Given the description of an element on the screen output the (x, y) to click on. 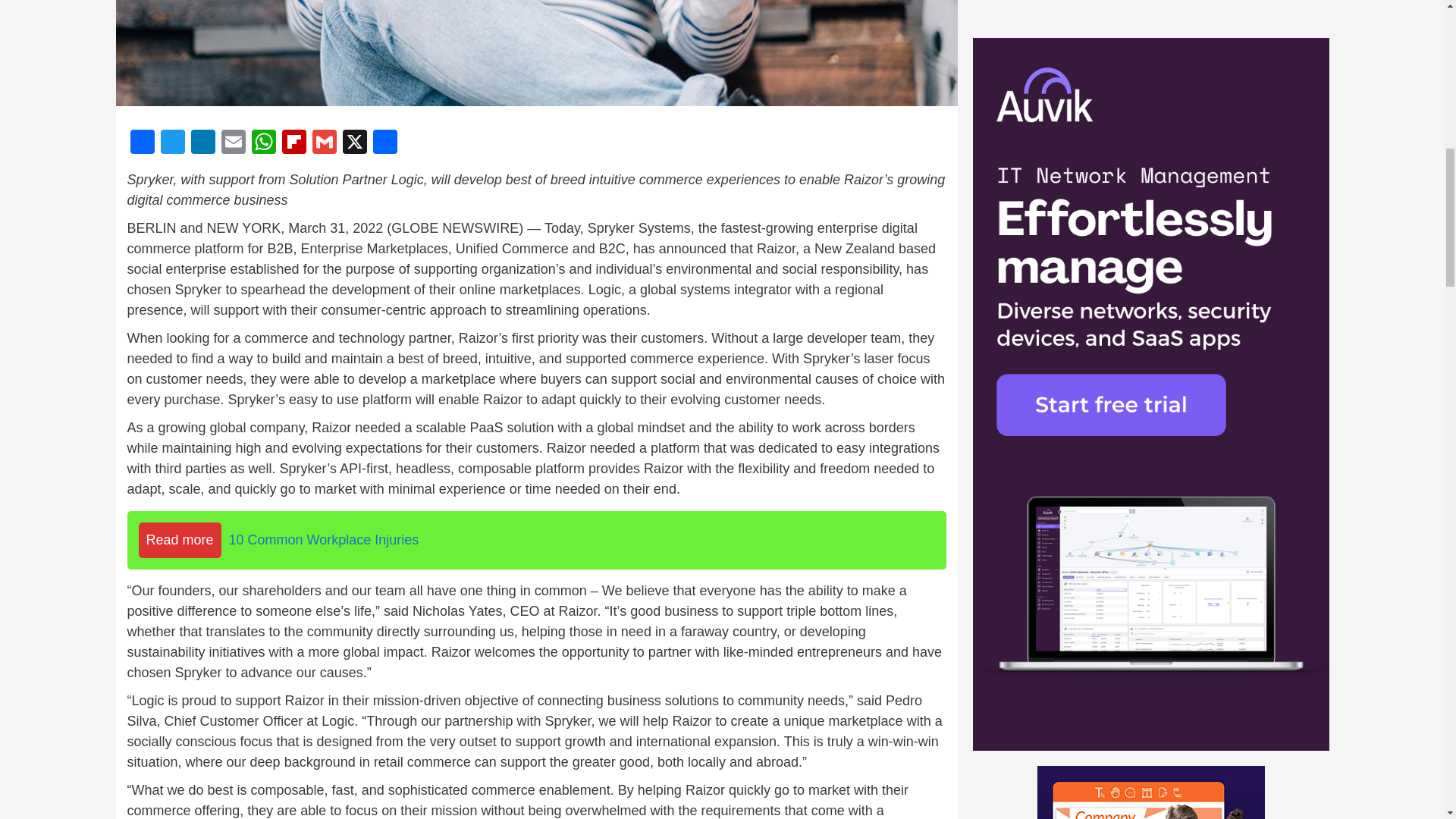
Read more10 Common Workplace Injuries (537, 540)
Twitter (172, 143)
Facebook (142, 143)
Gmail (323, 143)
Twitter (172, 143)
LinkedIn (202, 143)
WhatsApp (263, 143)
X (354, 143)
Facebook (142, 143)
LinkedIn (202, 143)
Email (233, 143)
X (354, 143)
Flipboard (293, 143)
Gmail (323, 143)
Email (233, 143)
